Given the description of an element on the screen output the (x, y) to click on. 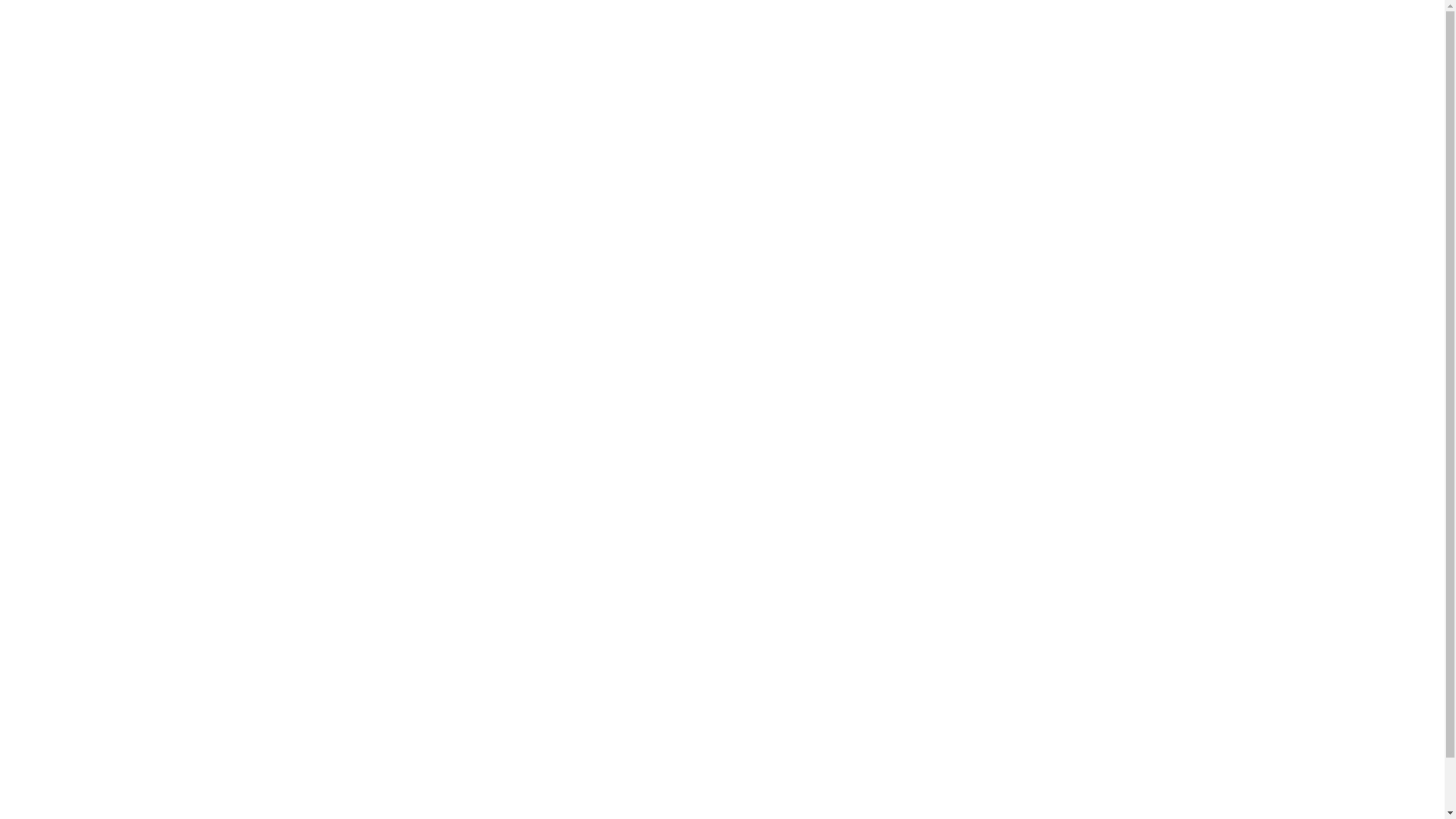
0 Element type: text (1398, 21)
Resources & Blog Element type: text (708, 22)
1300 155 605 Element type: text (945, 22)
Contact Us Element type: text (863, 22)
RETURN TO HOME! Element type: text (722, 252)
Main menu Element type: text (370, 355)
Our Products Element type: text (369, 408)
About Us Element type: text (793, 22)
Contact Us Element type: text (364, 479)
Our Services Element type: text (496, 22)
Our Services Element type: text (367, 385)
Our Products Element type: text (595, 22)
Resources & Blog Element type: text (379, 432)
Industry 4.0 Element type: text (735, 626)
1300 155 605 Element type: text (371, 504)
About Us Element type: text (360, 456)
